Given the description of an element on the screen output the (x, y) to click on. 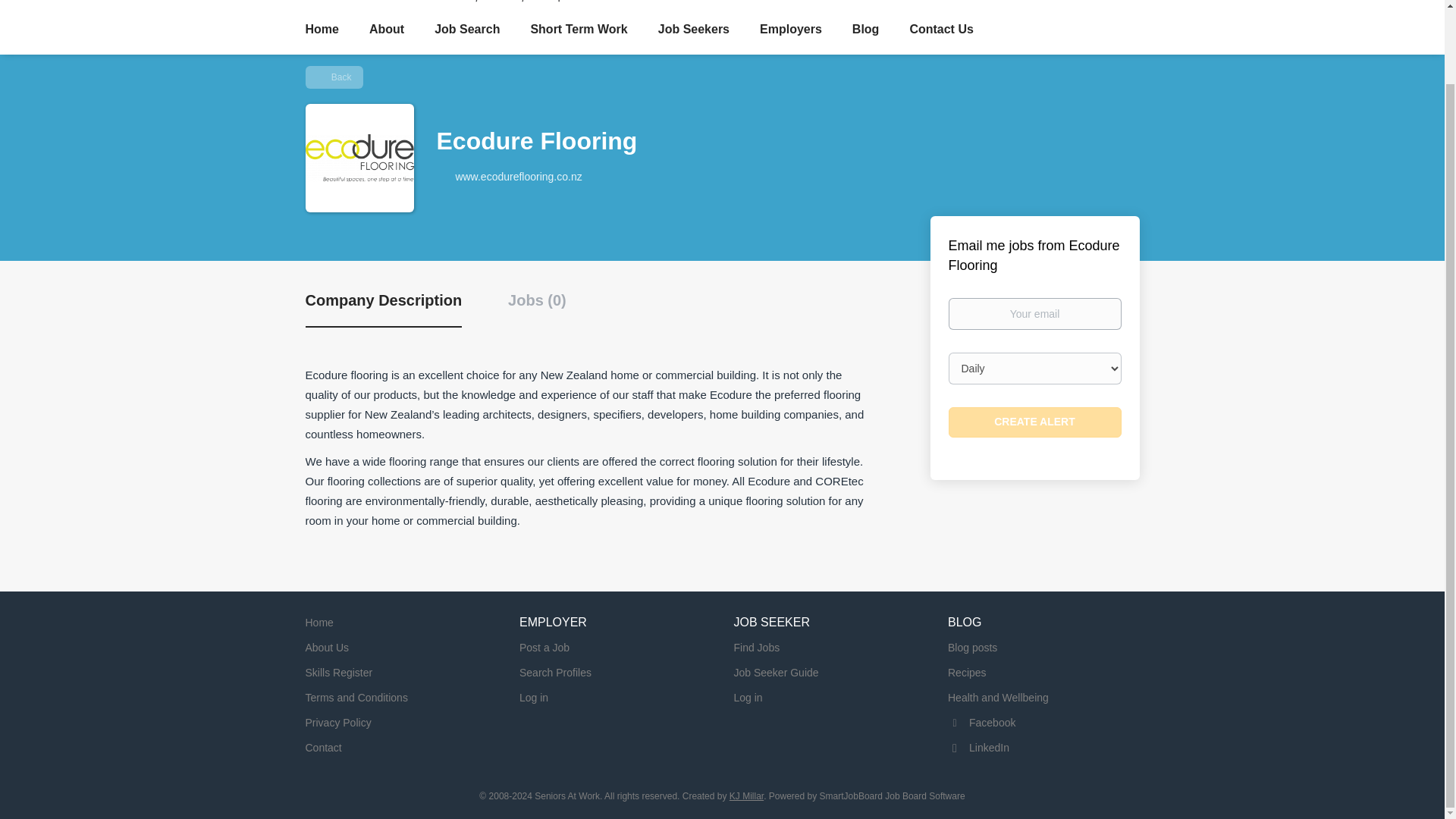
View Contact page (322, 747)
View About Us page (326, 647)
View job seeker guide (775, 672)
Home (318, 622)
Contact Us (940, 31)
Employers (791, 31)
Blog posts (972, 647)
Post job listing (544, 647)
Job Seekers (693, 31)
Company Description (382, 308)
About (386, 31)
Log in (533, 697)
View Home page (318, 622)
Terms and Conditions (355, 697)
About Us (326, 647)
